Given the description of an element on the screen output the (x, y) to click on. 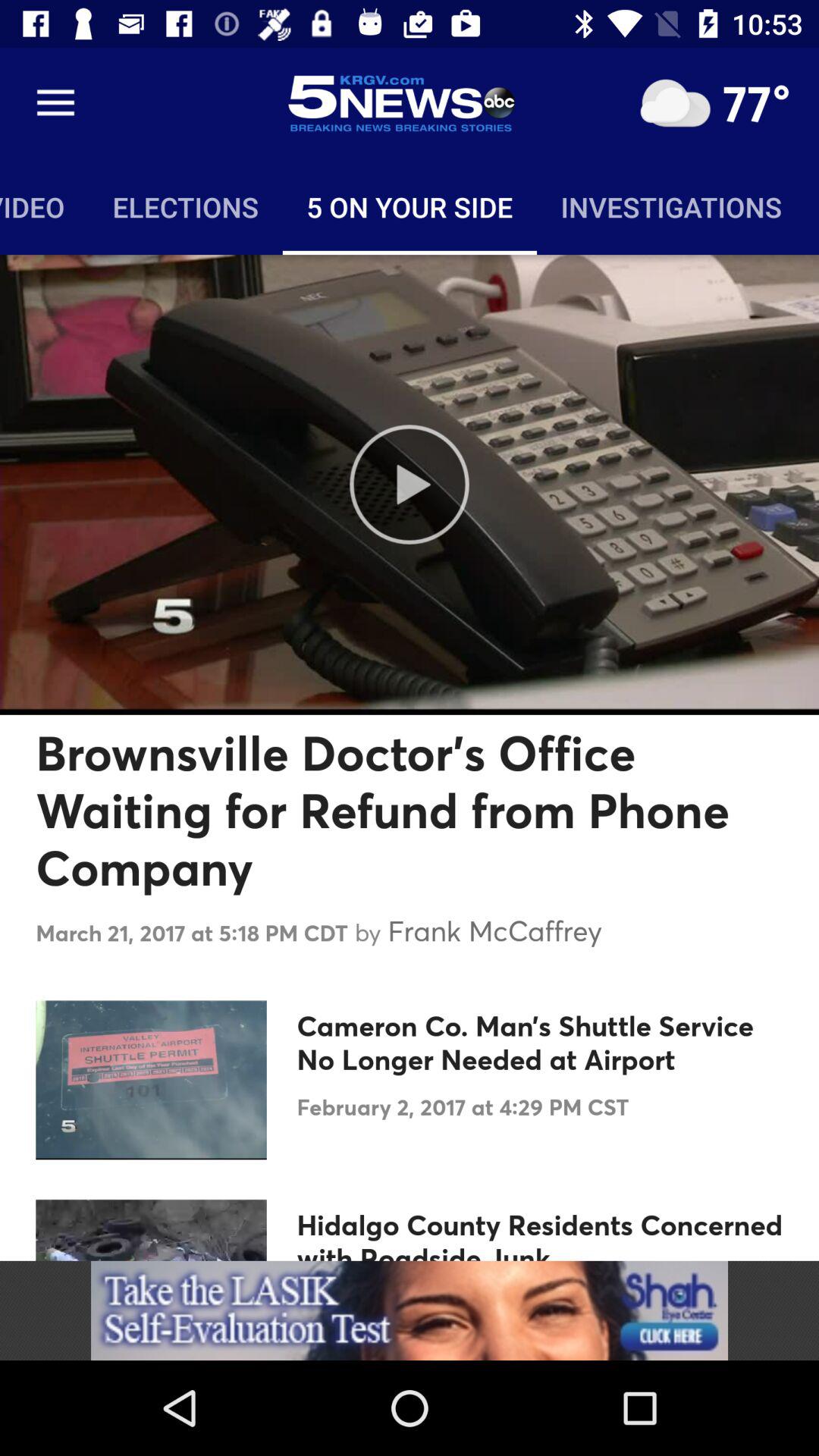
banner advertisement (409, 1310)
